Given the description of an element on the screen output the (x, y) to click on. 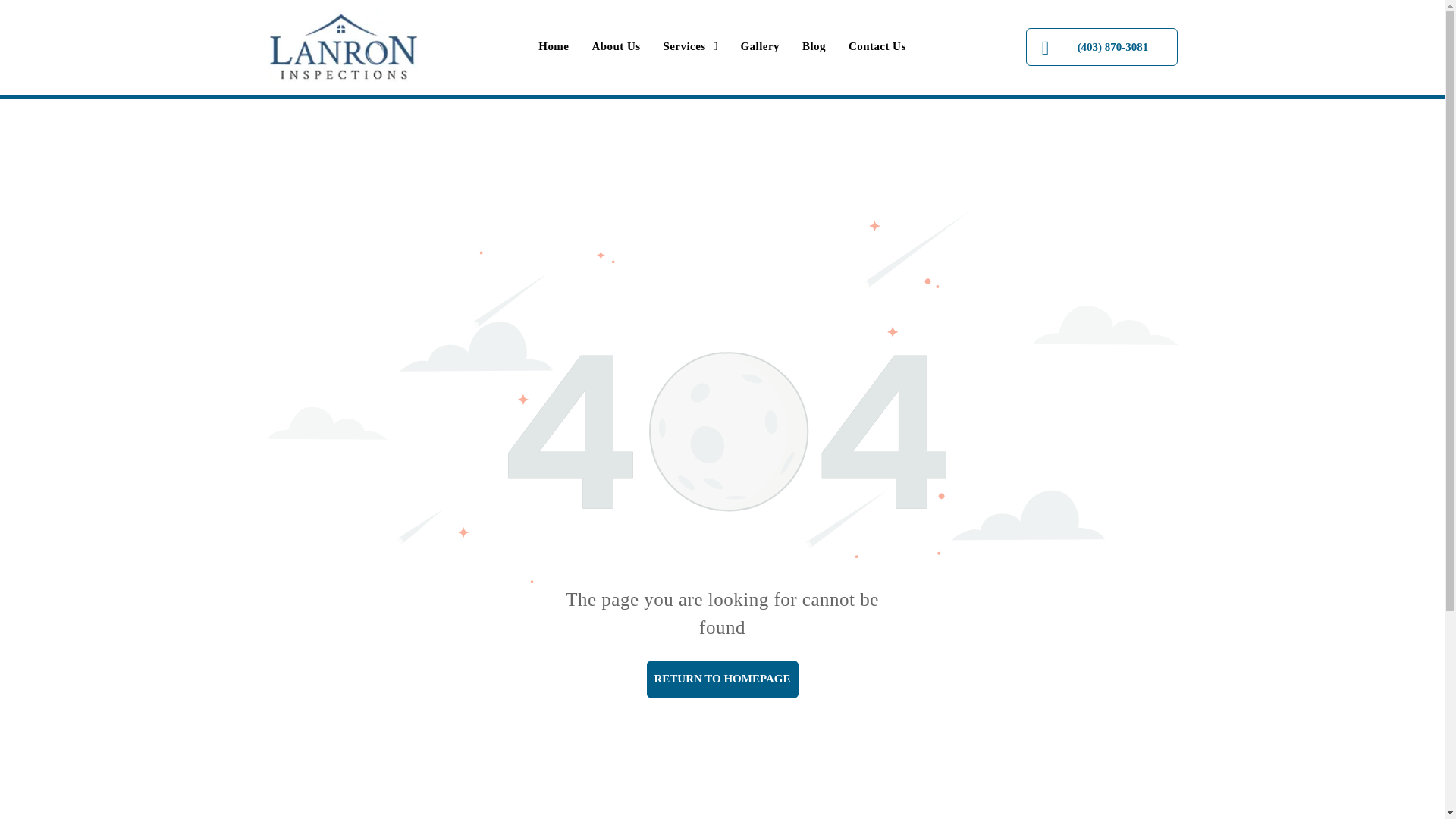
Services (689, 46)
Gallery (759, 46)
Contact Us (877, 46)
About Us (614, 46)
Home (553, 46)
Blog (813, 46)
RETURN TO HOMEPAGE (721, 679)
